Given the description of an element on the screen output the (x, y) to click on. 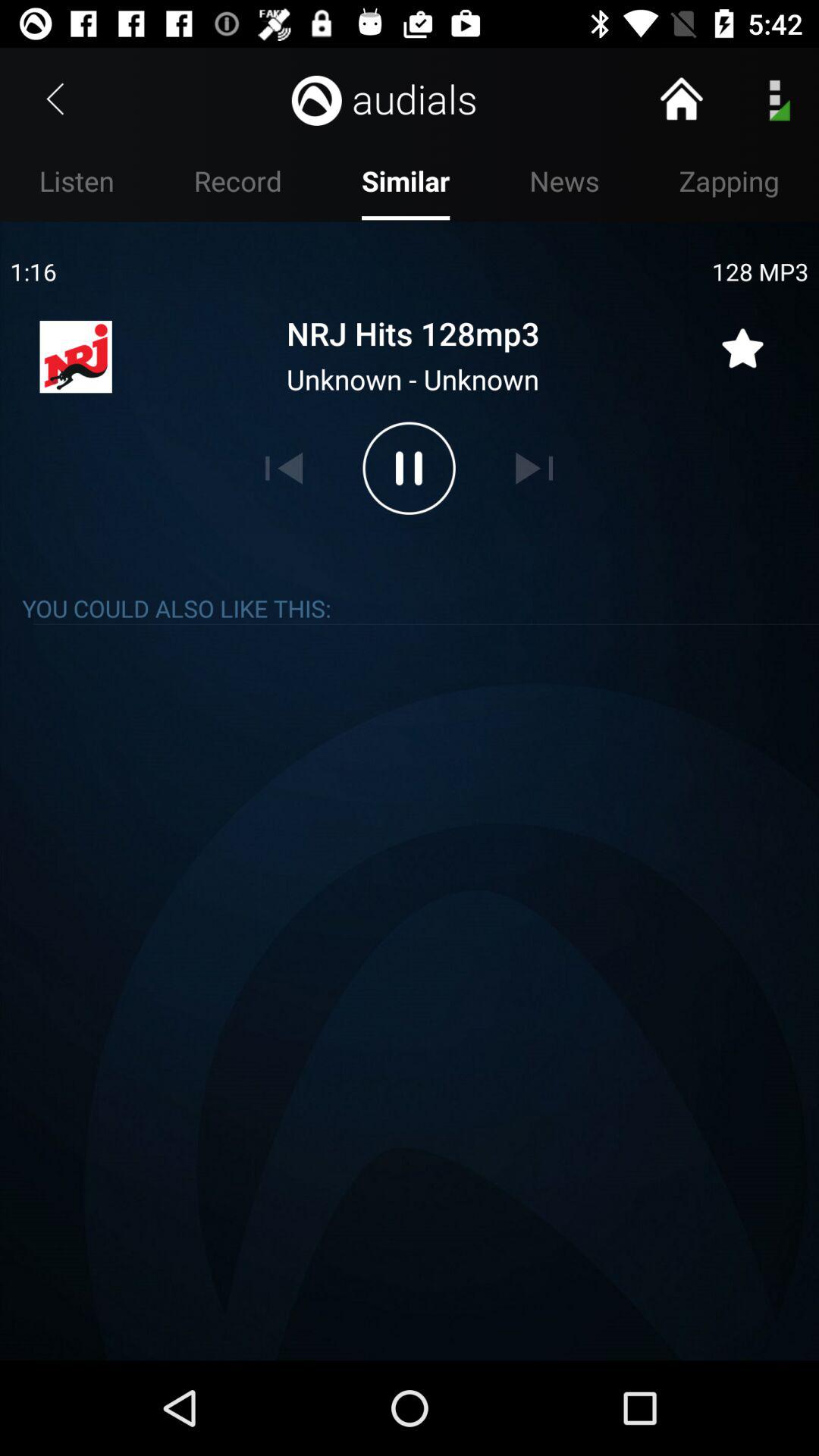
go to home page (681, 98)
